Given the description of an element on the screen output the (x, y) to click on. 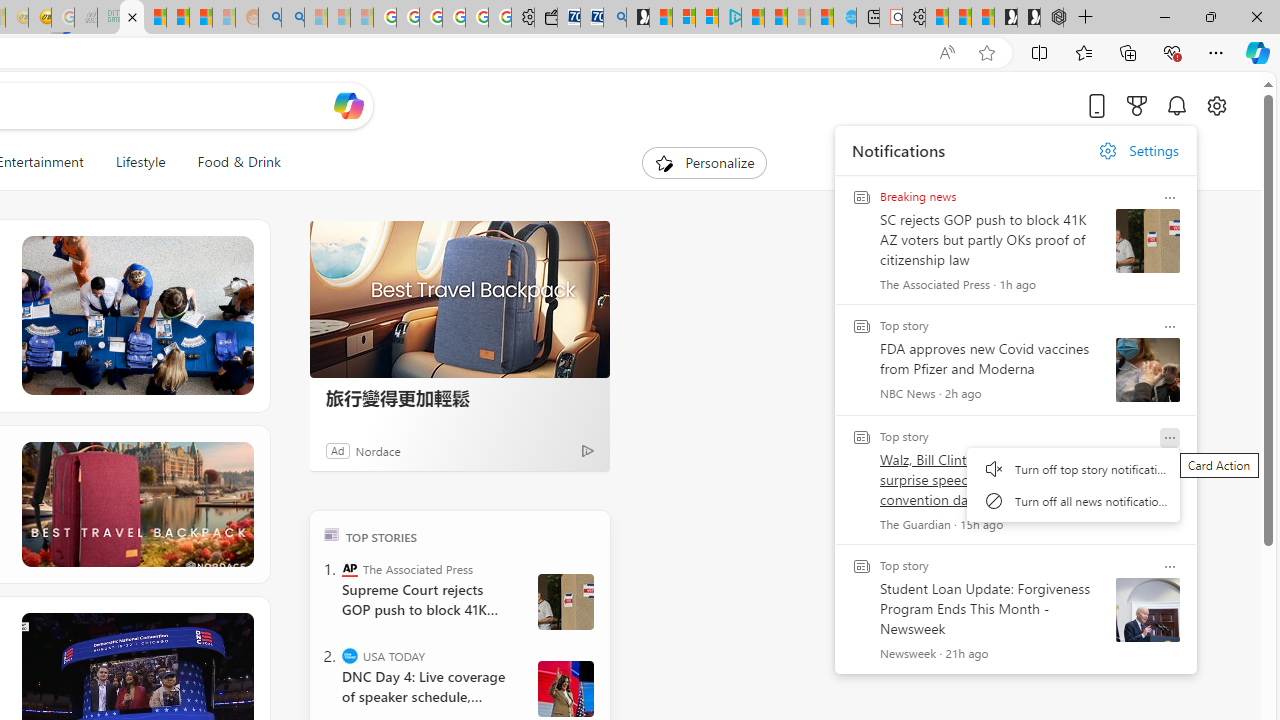
Utah sues federal government - Search (292, 17)
USA TODAY (349, 655)
